Given the description of an element on the screen output the (x, y) to click on. 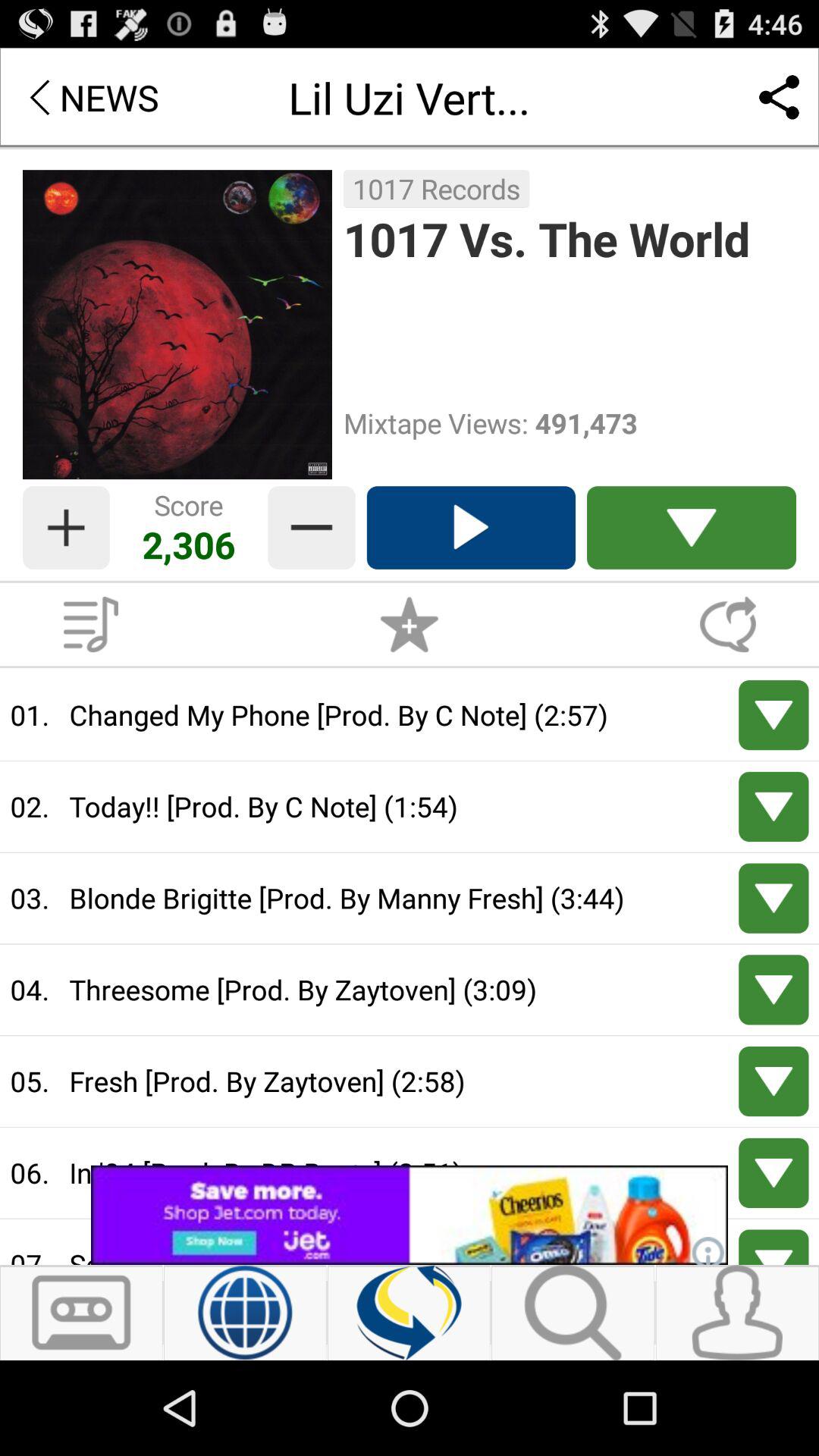
click to view advertisement (409, 1214)
